Given the description of an element on the screen output the (x, y) to click on. 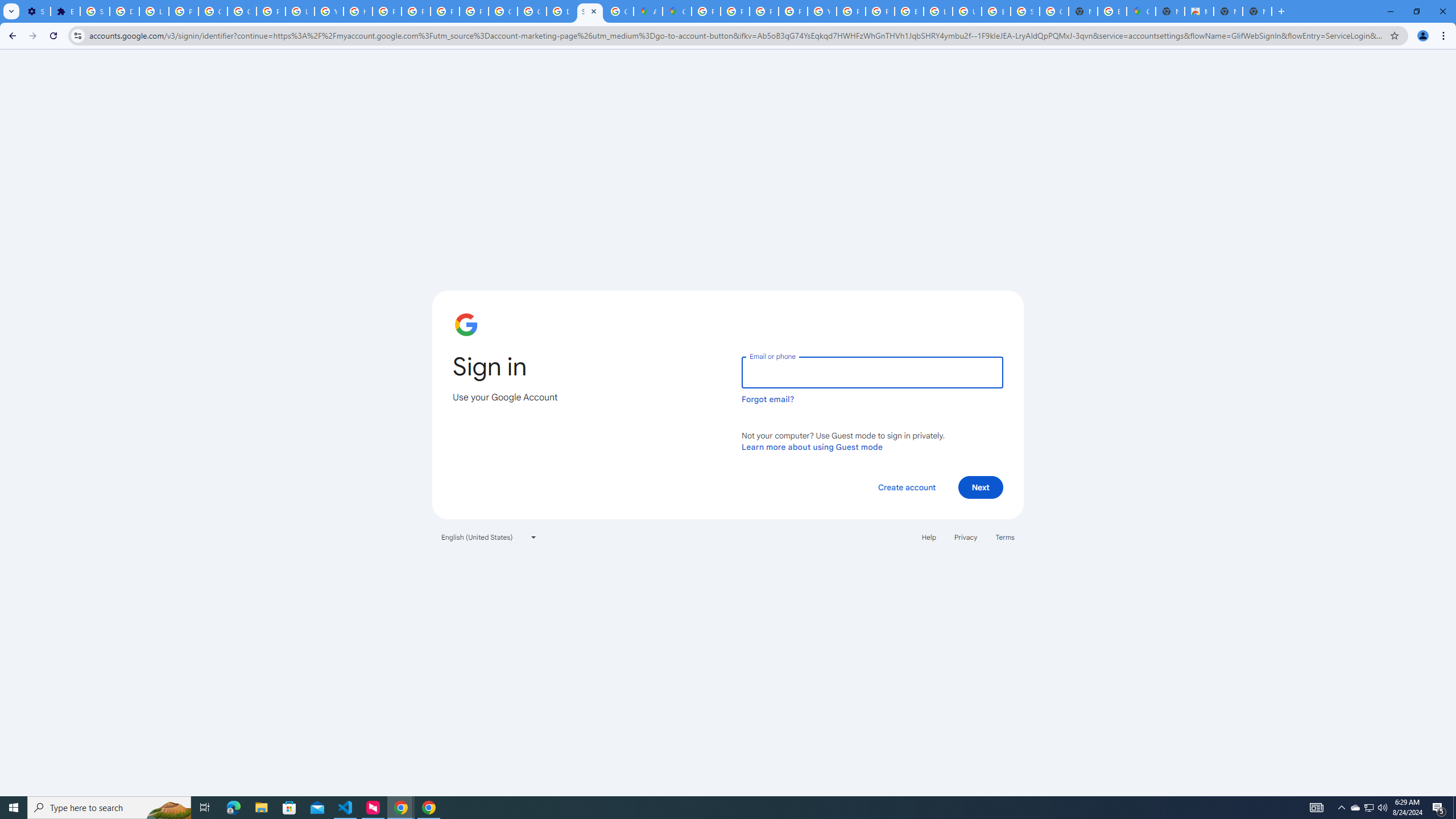
Google Maps (1140, 11)
Email or phone (871, 372)
YouTube (821, 11)
Sign in - Google Accounts (590, 11)
Settings - On startup (35, 11)
New Tab (1282, 11)
